Given the description of an element on the screen output the (x, y) to click on. 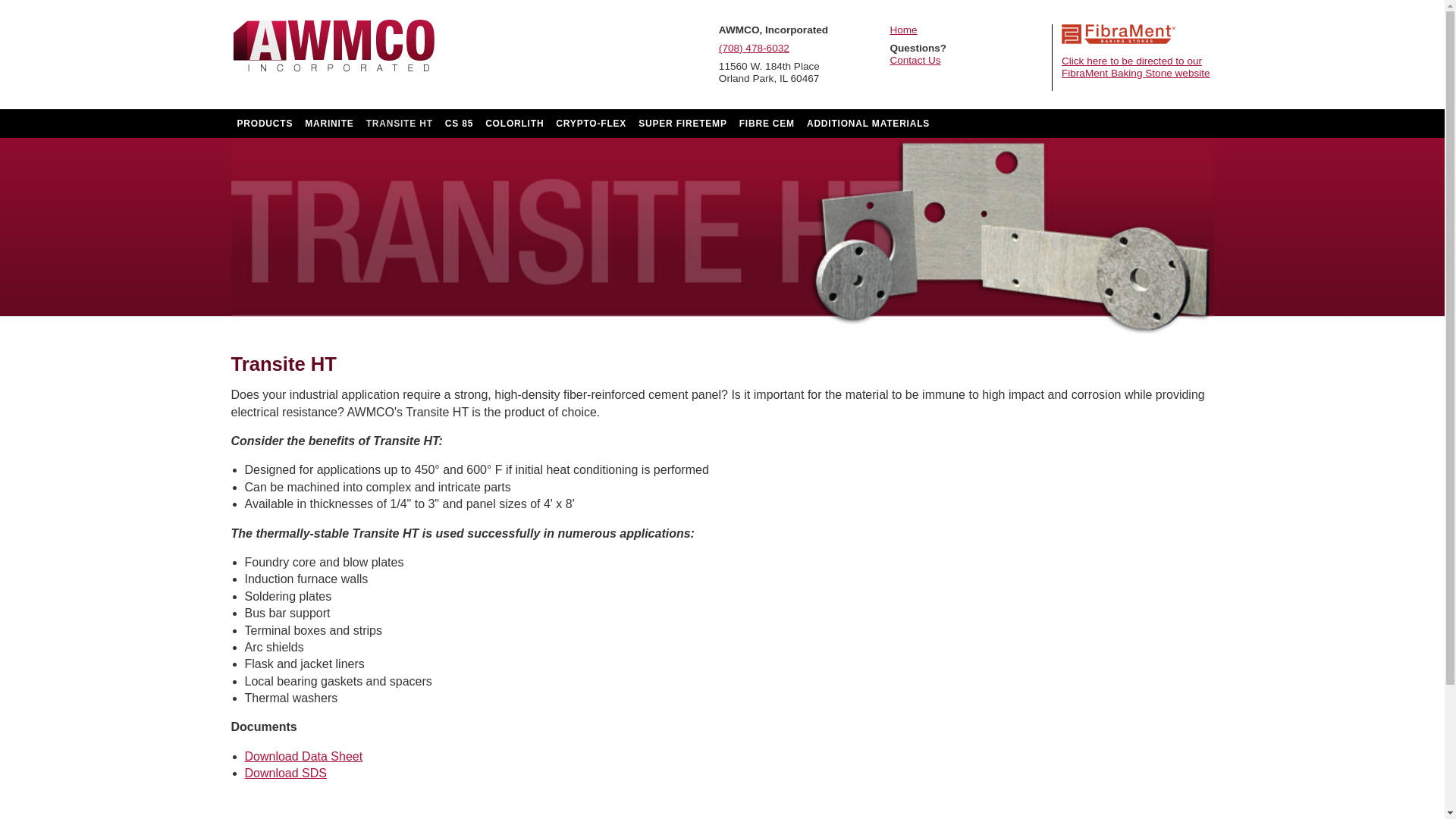
FIBRE CEM (766, 123)
COLORLITH (513, 123)
Fiber Reinforced Cement Boards - AWMCO (332, 47)
Contact Us (965, 60)
Download SDS (285, 772)
ADDITIONAL MATERIALS (868, 123)
Home (965, 30)
CS 85 (459, 123)
SUPER FIRETEMP (682, 123)
Download Data Sheet (303, 756)
PRODUCTS (263, 123)
TRANSITE HT (399, 123)
MARINITE (328, 123)
CRYPTO-FLEX (591, 123)
